Given the description of an element on the screen output the (x, y) to click on. 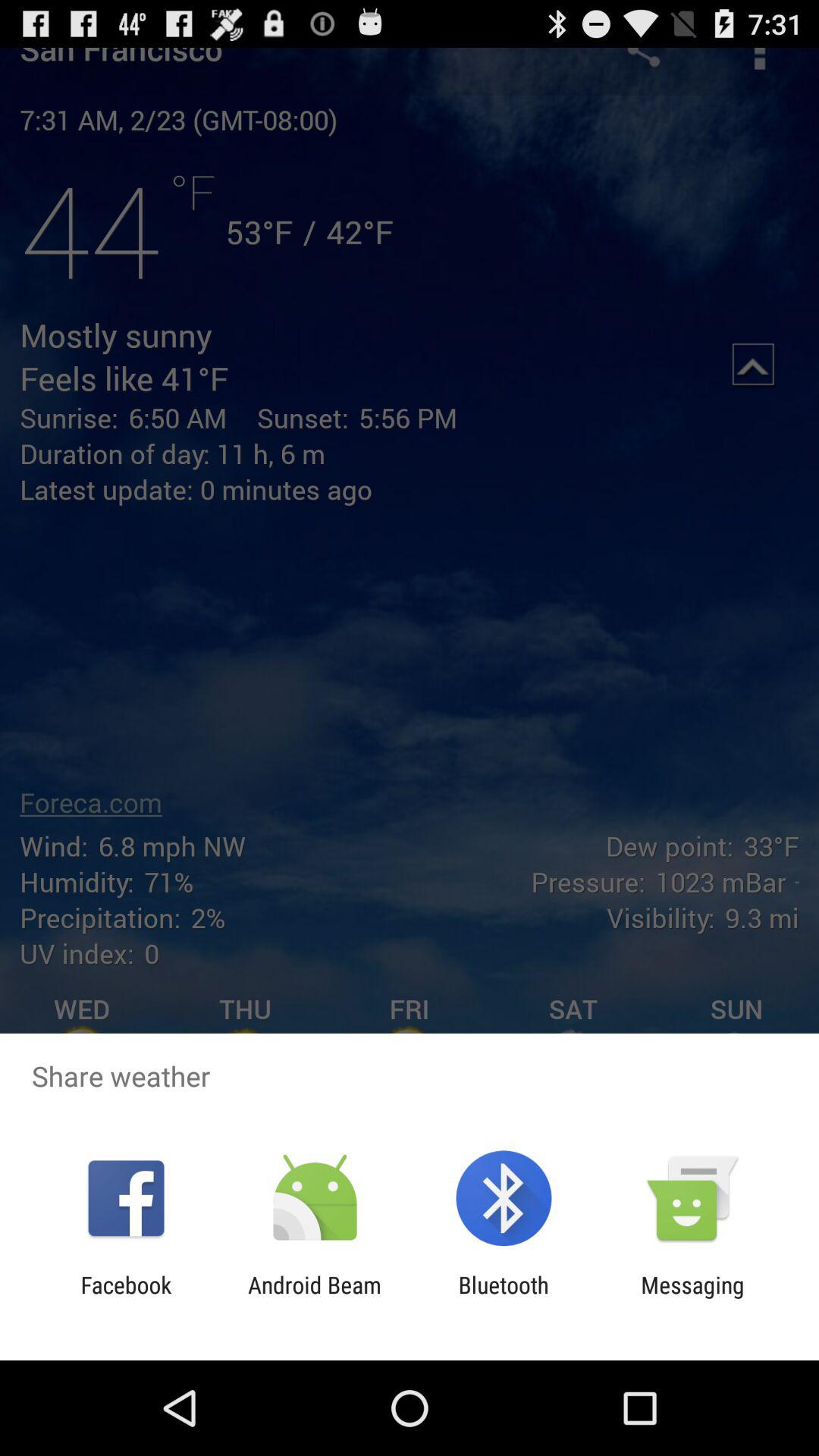
turn on item next to the messaging (503, 1298)
